Given the description of an element on the screen output the (x, y) to click on. 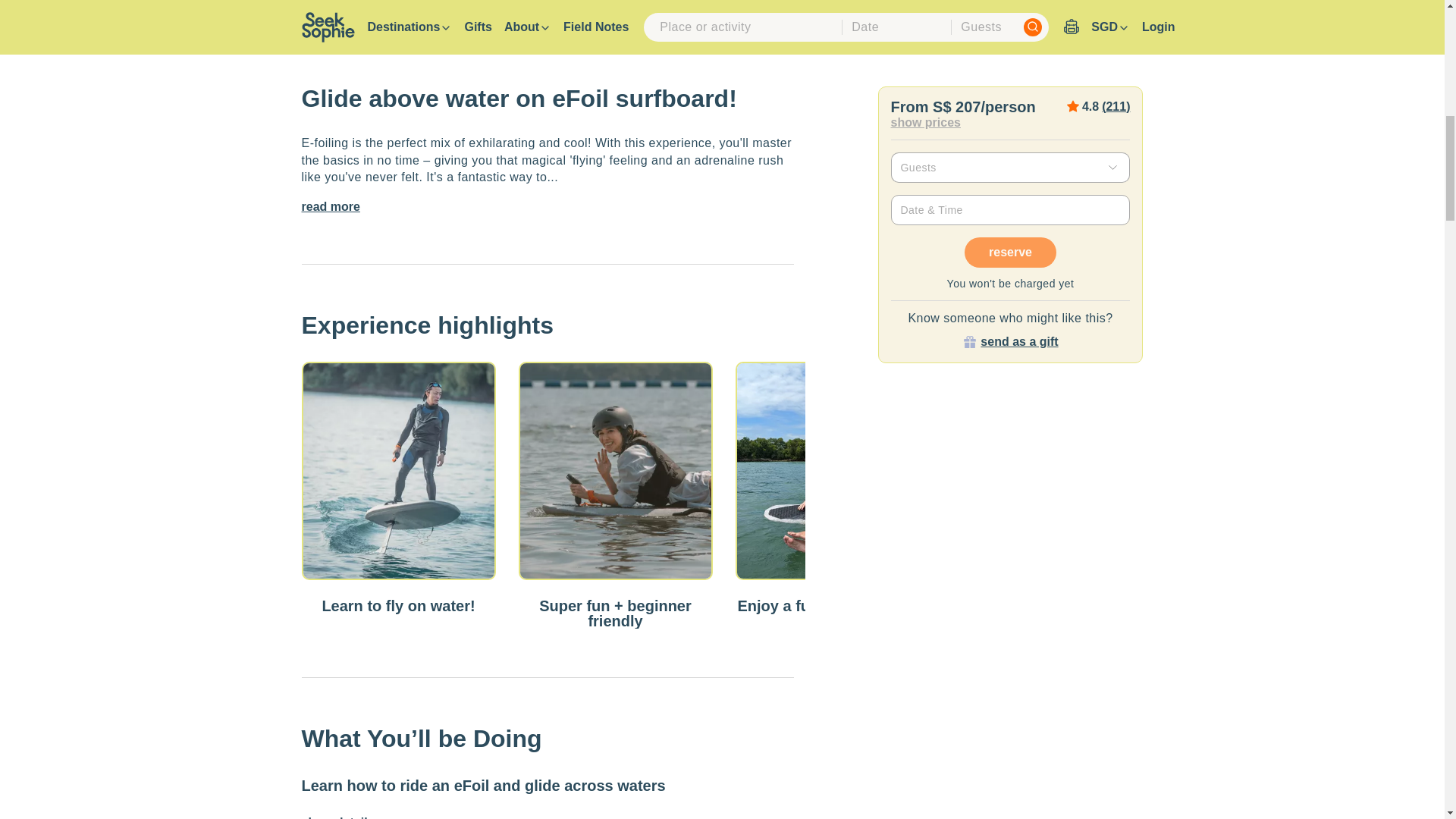
send as a gift (1018, 341)
reserve (1010, 252)
